Given the description of an element on the screen output the (x, y) to click on. 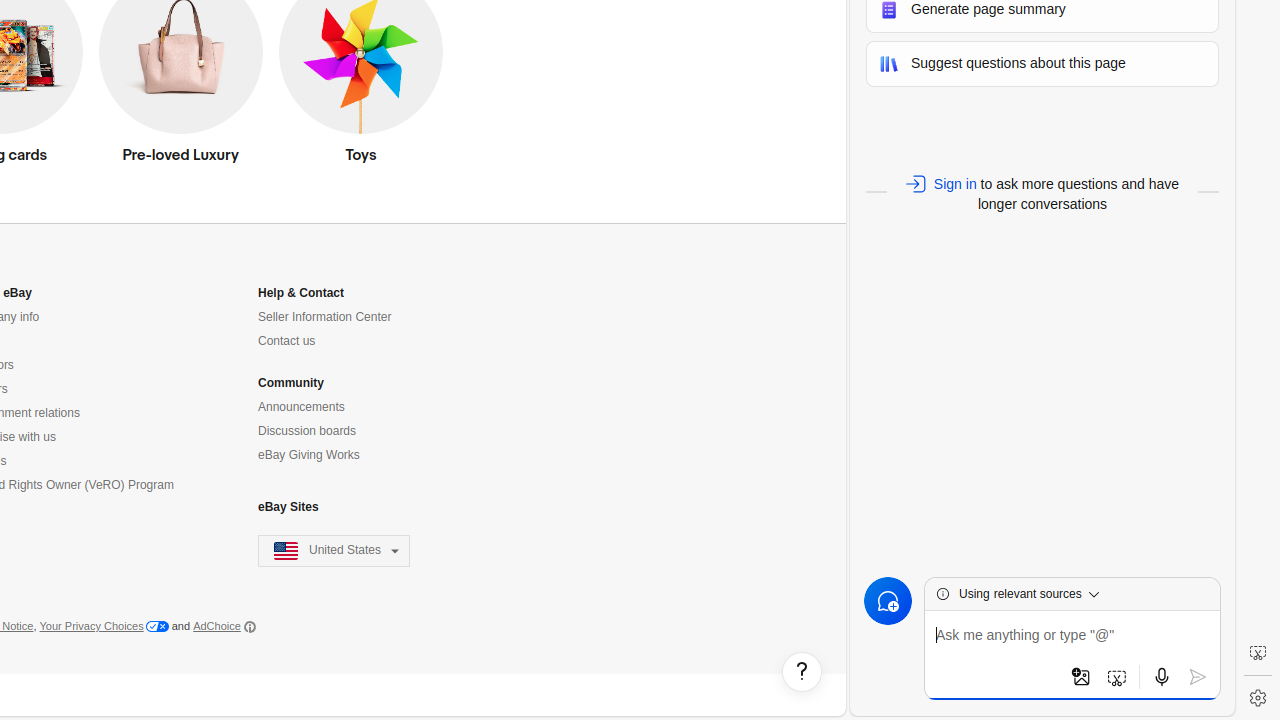
Settings Element type: push-button (1258, 698)
Add an screenshot image to search Element type: push-button (1117, 677)
Submit Element type: push-button (1198, 677)
Suggest questions about this page Element type: radio-button (1042, 63)
Announcements Element type: link (301, 407)
